Given the description of an element on the screen output the (x, y) to click on. 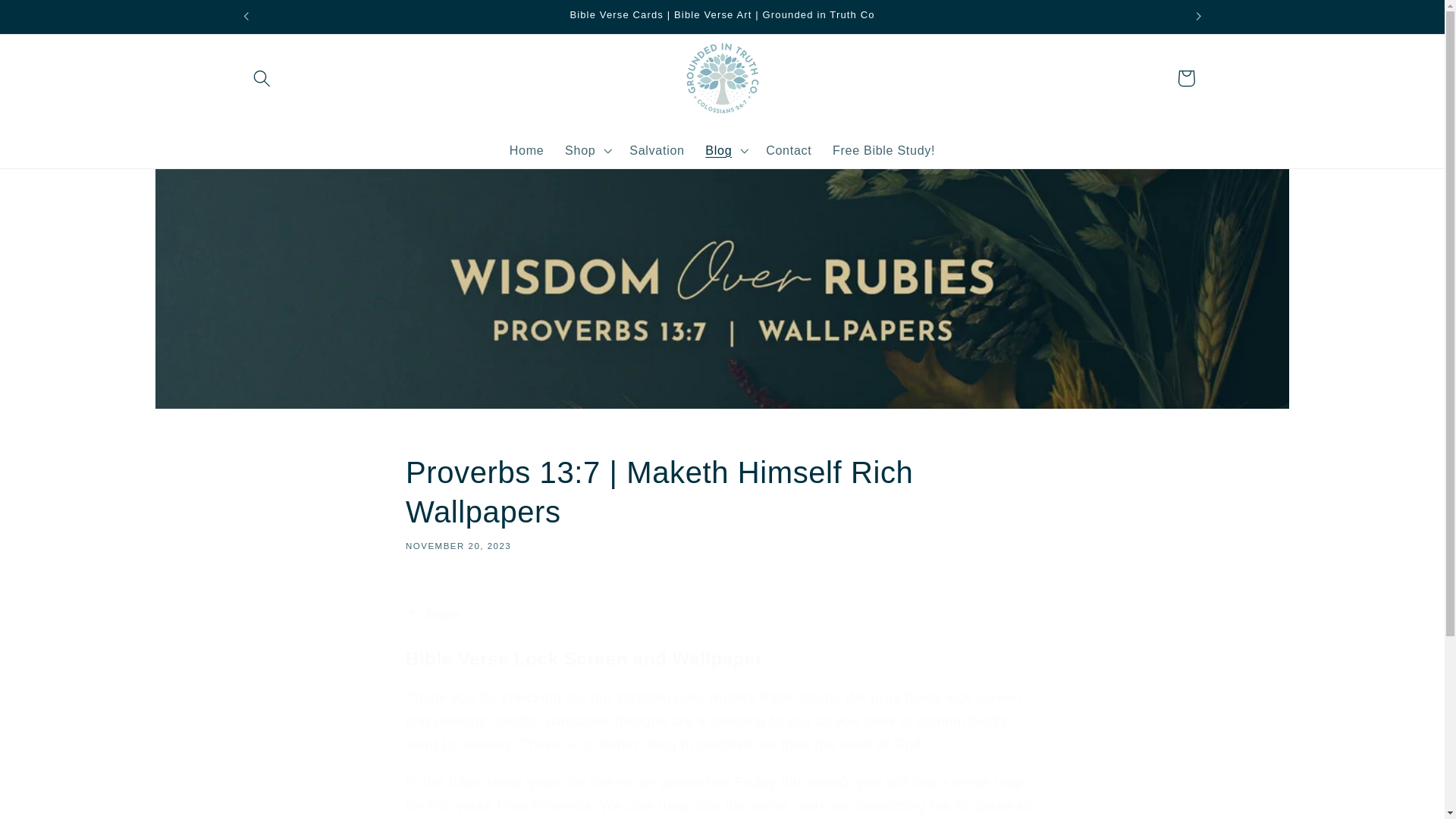
Share (722, 614)
Free Bible Study! (883, 149)
Skip to content (52, 20)
Contact (788, 149)
Salvation (656, 149)
Home (526, 149)
